Given the description of an element on the screen output the (x, y) to click on. 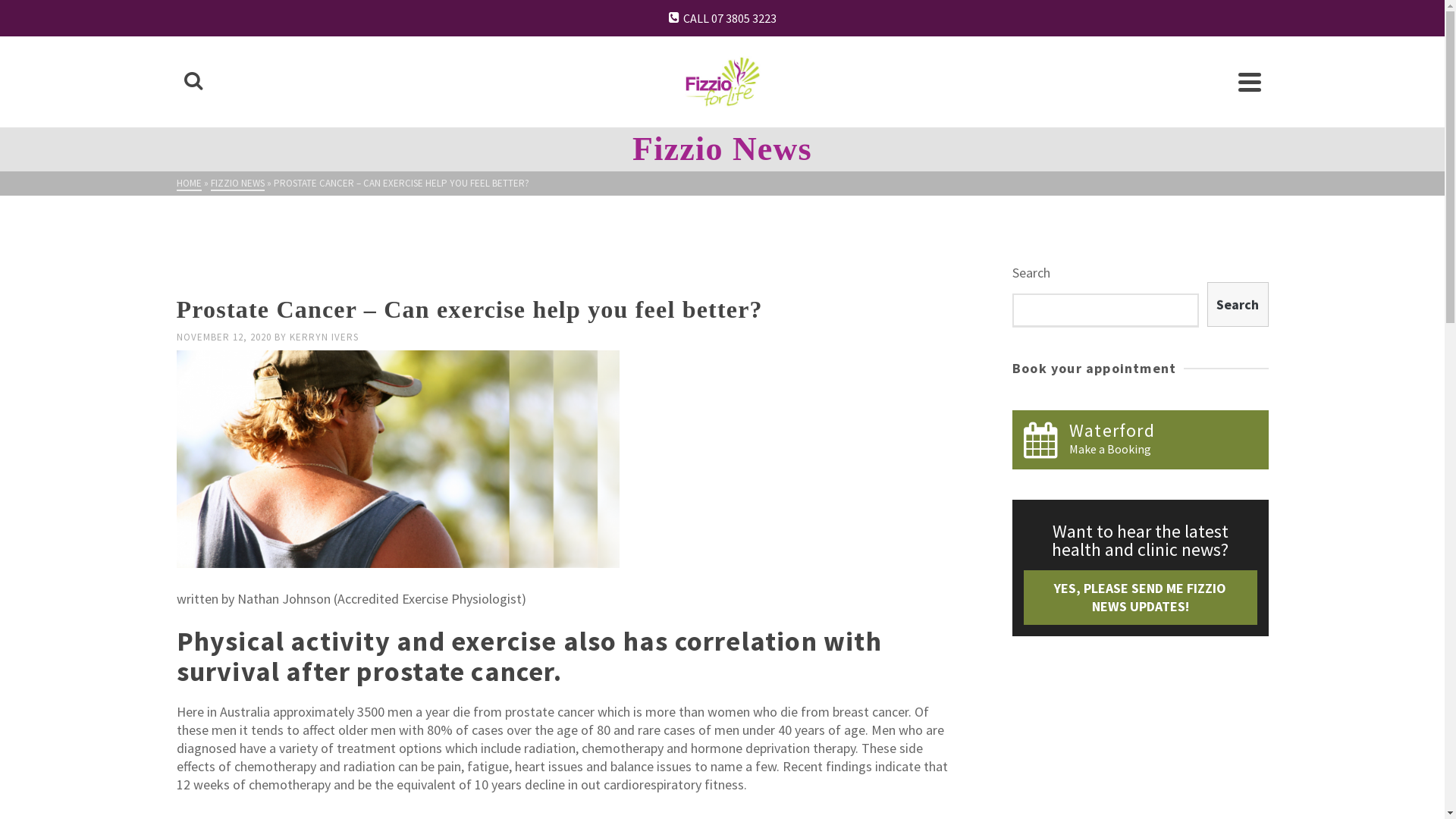
YES, PLEASE SEND ME FIZZIO NEWS UPDATES! Element type: text (1140, 597)
FIZZIO NEWS Element type: text (237, 183)
Waterford
Make a Booking Element type: text (1140, 439)
HOME Element type: text (187, 183)
CALL 07 3805 3223 Element type: text (721, 18)
KERRYN IVERS Element type: text (323, 336)
Search Element type: text (1237, 304)
